Given the description of an element on the screen output the (x, y) to click on. 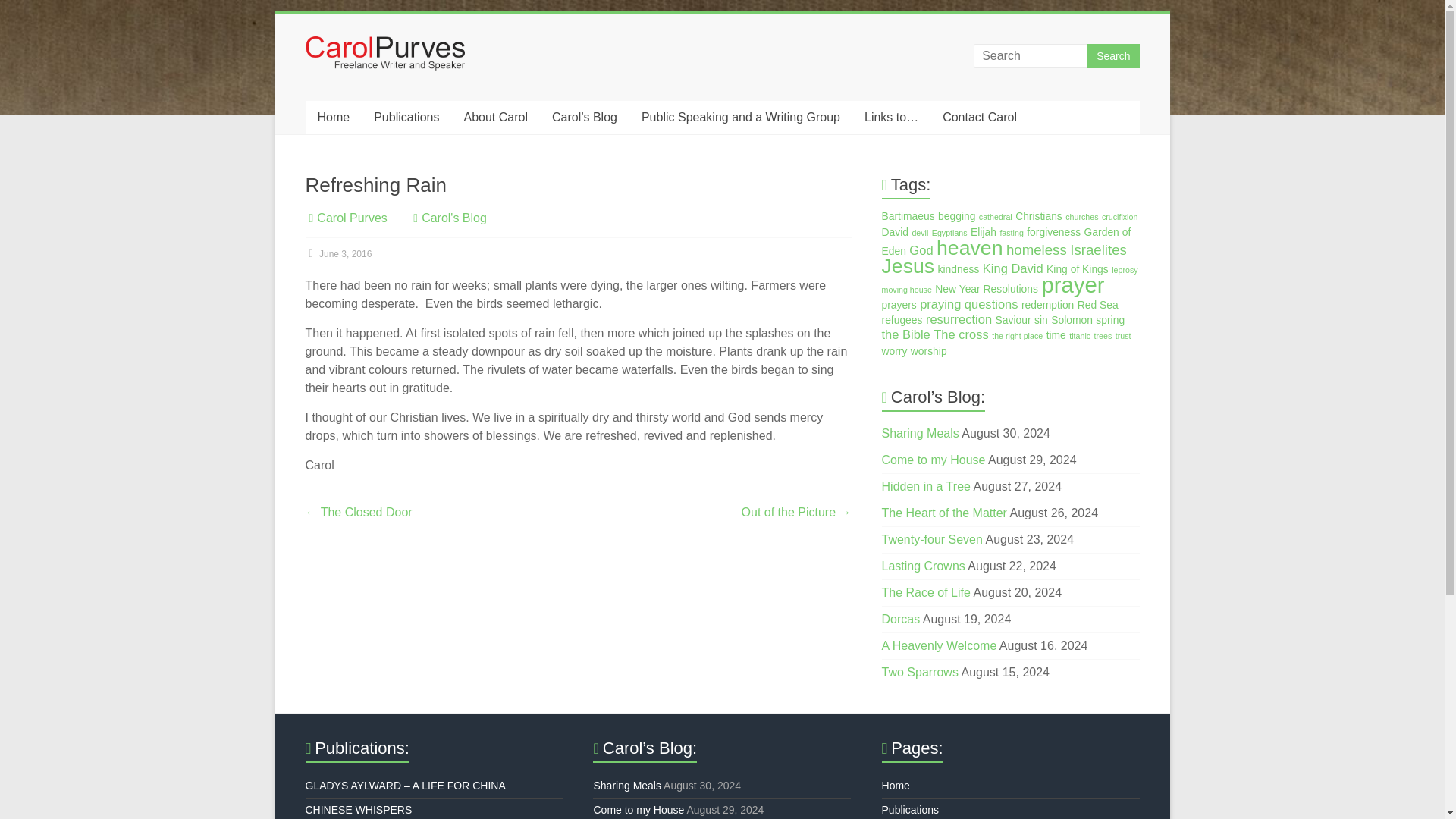
David (895, 232)
forgiveness (1053, 232)
homeless (1036, 249)
kindness (958, 268)
Carol Purves (352, 217)
Carol Purves (352, 217)
Bartimaeus (908, 215)
Contact Carol (979, 117)
crucifixion (1119, 216)
Publications (406, 117)
